Given the description of an element on the screen output the (x, y) to click on. 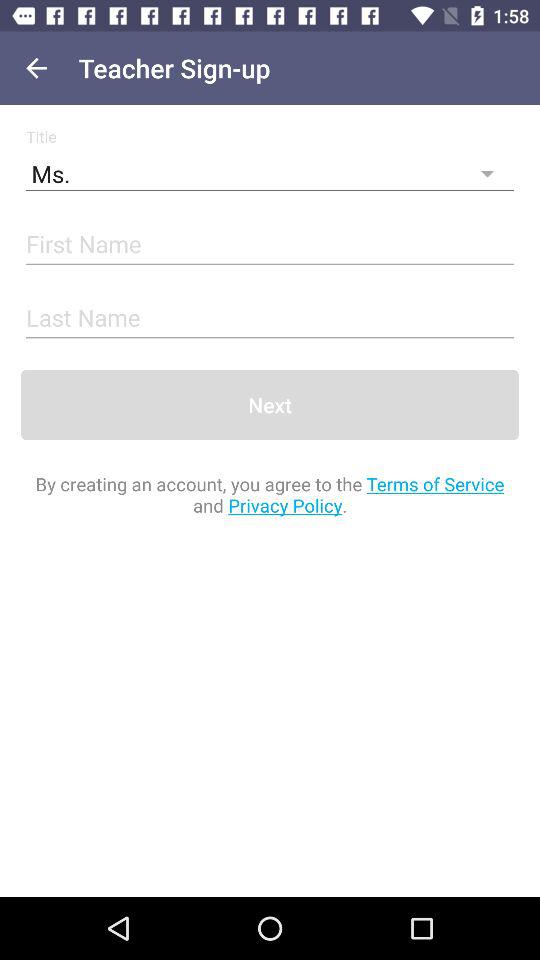
one person the next name (270, 318)
